Given the description of an element on the screen output the (x, y) to click on. 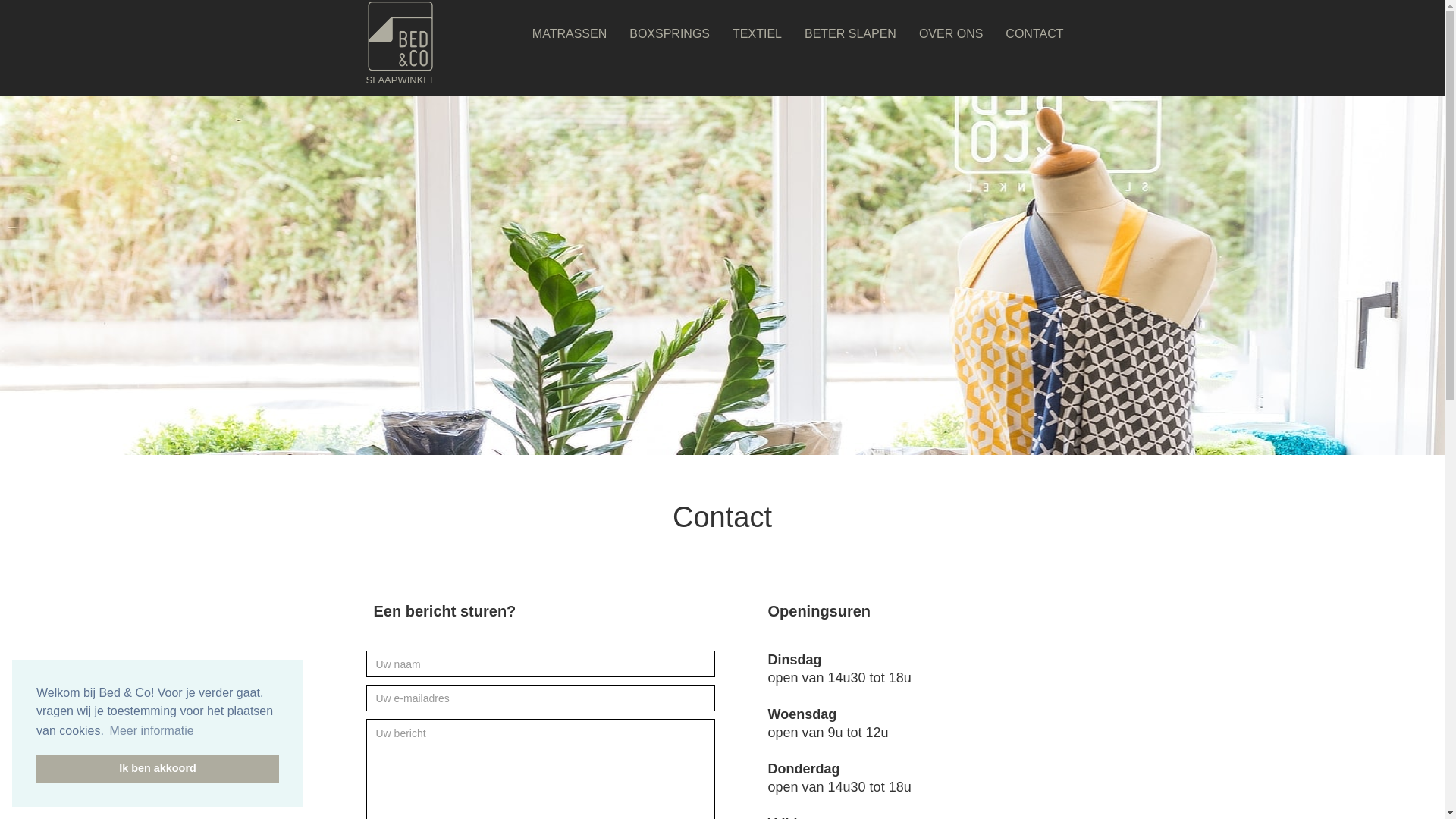
Ik ben akkoord Element type: text (157, 767)
TEXTIEL Element type: text (760, 28)
MATRASSEN Element type: text (572, 28)
Meer informatie Element type: text (151, 730)
BOXSPRINGS Element type: text (672, 28)
SLAAPWINKEL Element type: text (400, 47)
BETER SLAPEN Element type: text (854, 28)
CONTACT Element type: text (1037, 28)
OVER ONS Element type: text (954, 28)
